Given the description of an element on the screen output the (x, y) to click on. 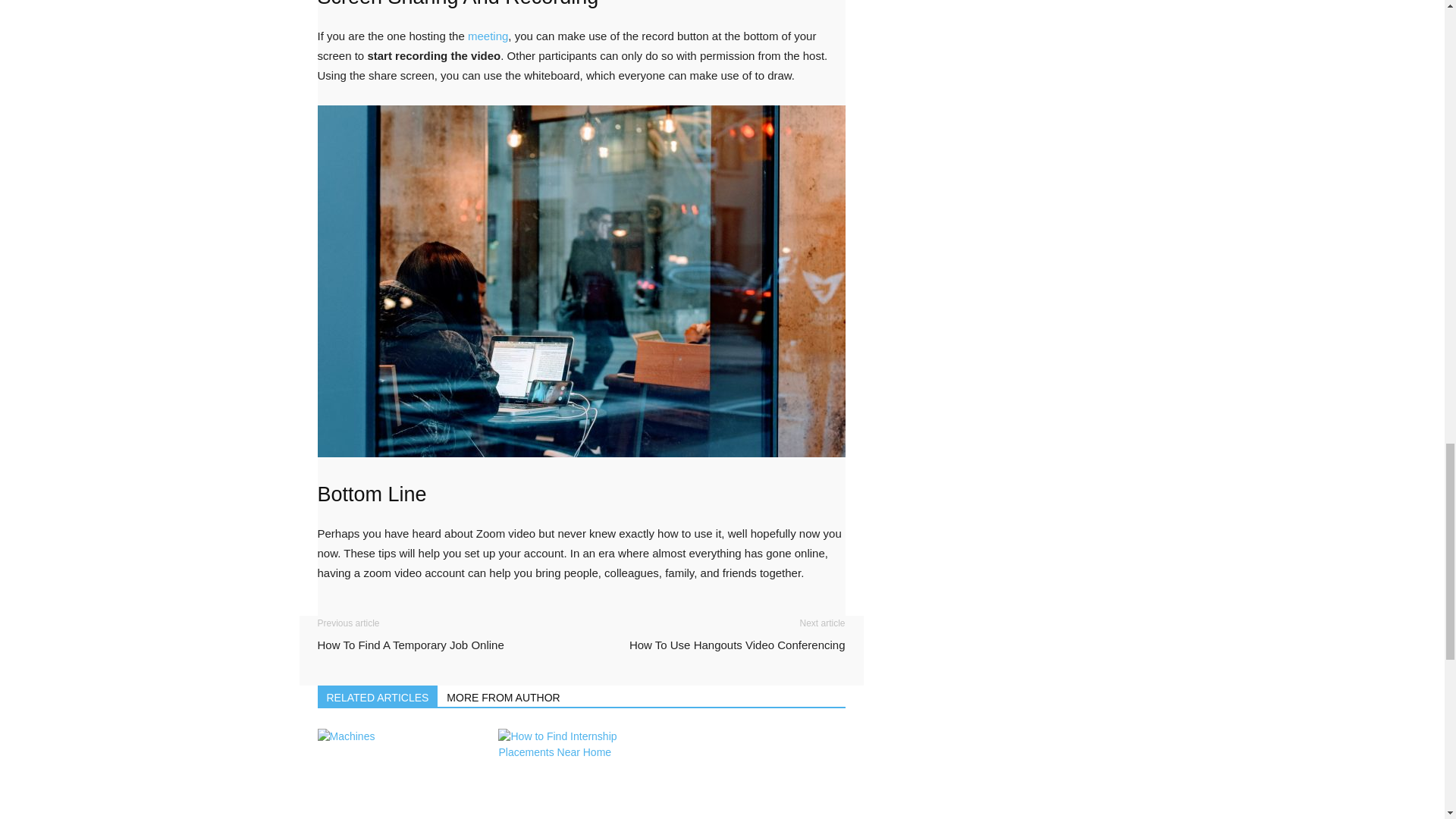
RELATED ARTICLES (377, 695)
How To Use Hangouts Video Conferencing (736, 644)
meeting (487, 35)
How To Find A Temporary Job Online (410, 644)
How to Find Internship Placements Near Home (580, 773)
MORE FROM AUTHOR (503, 695)
5 Jobs Machines Are Looking to Steal From Humans (399, 773)
